Given the description of an element on the screen output the (x, y) to click on. 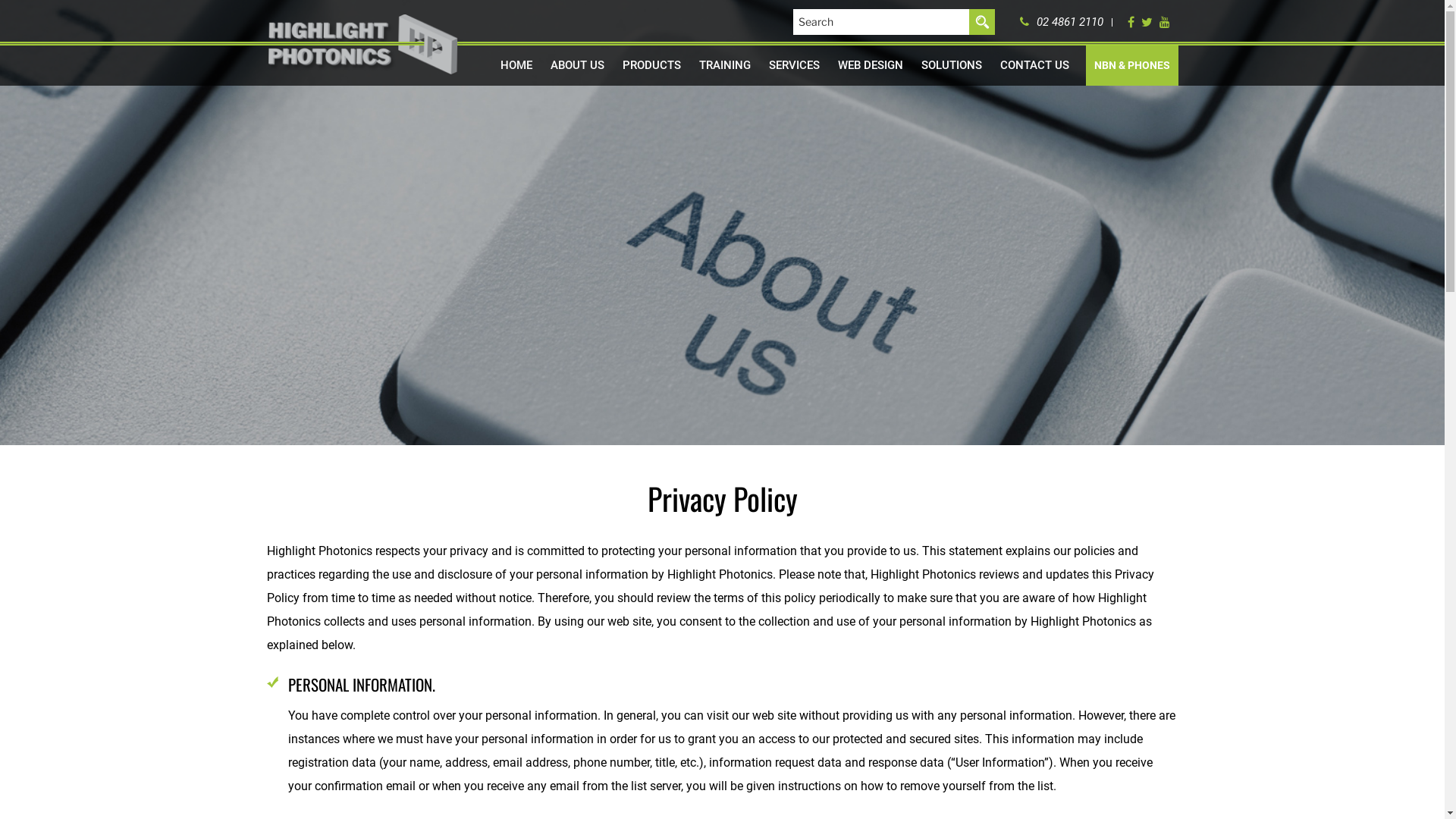
WEB DESIGN Element type: text (869, 65)
Highlight Photonics Element type: hover (364, 44)
PRODUCTS Element type: text (650, 65)
SOLUTIONS Element type: text (950, 65)
TRAINING Element type: text (724, 65)
ABOUT US Element type: text (576, 65)
NBN & PHONES Element type: text (1131, 65)
SERVICES Element type: text (794, 65)
HOME Element type: text (515, 65)
CONTACT US Element type: text (1033, 65)
